Given the description of an element on the screen output the (x, y) to click on. 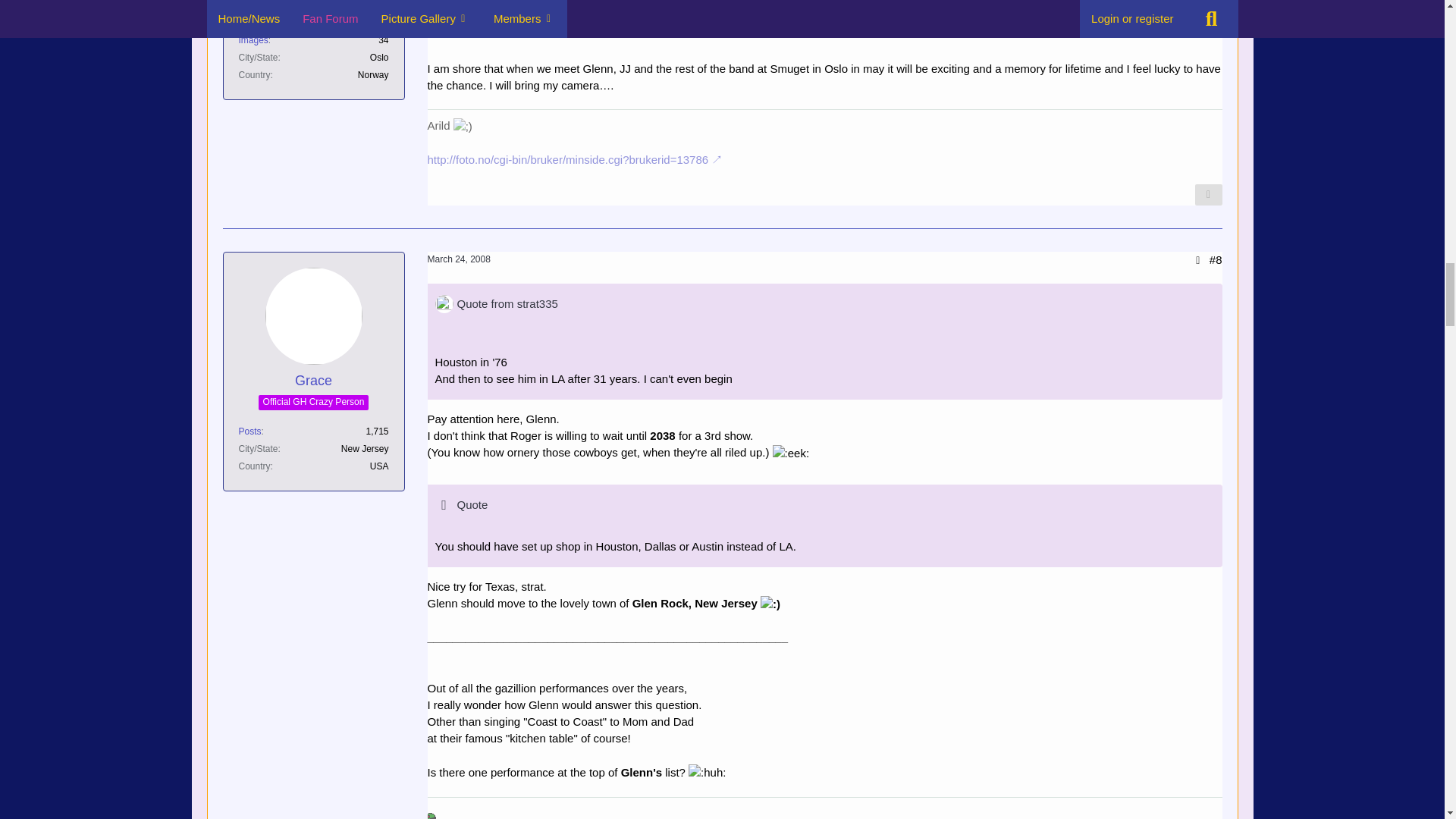
wink (461, 126)
EEK! (791, 453)
smile (770, 604)
